Given the description of an element on the screen output the (x, y) to click on. 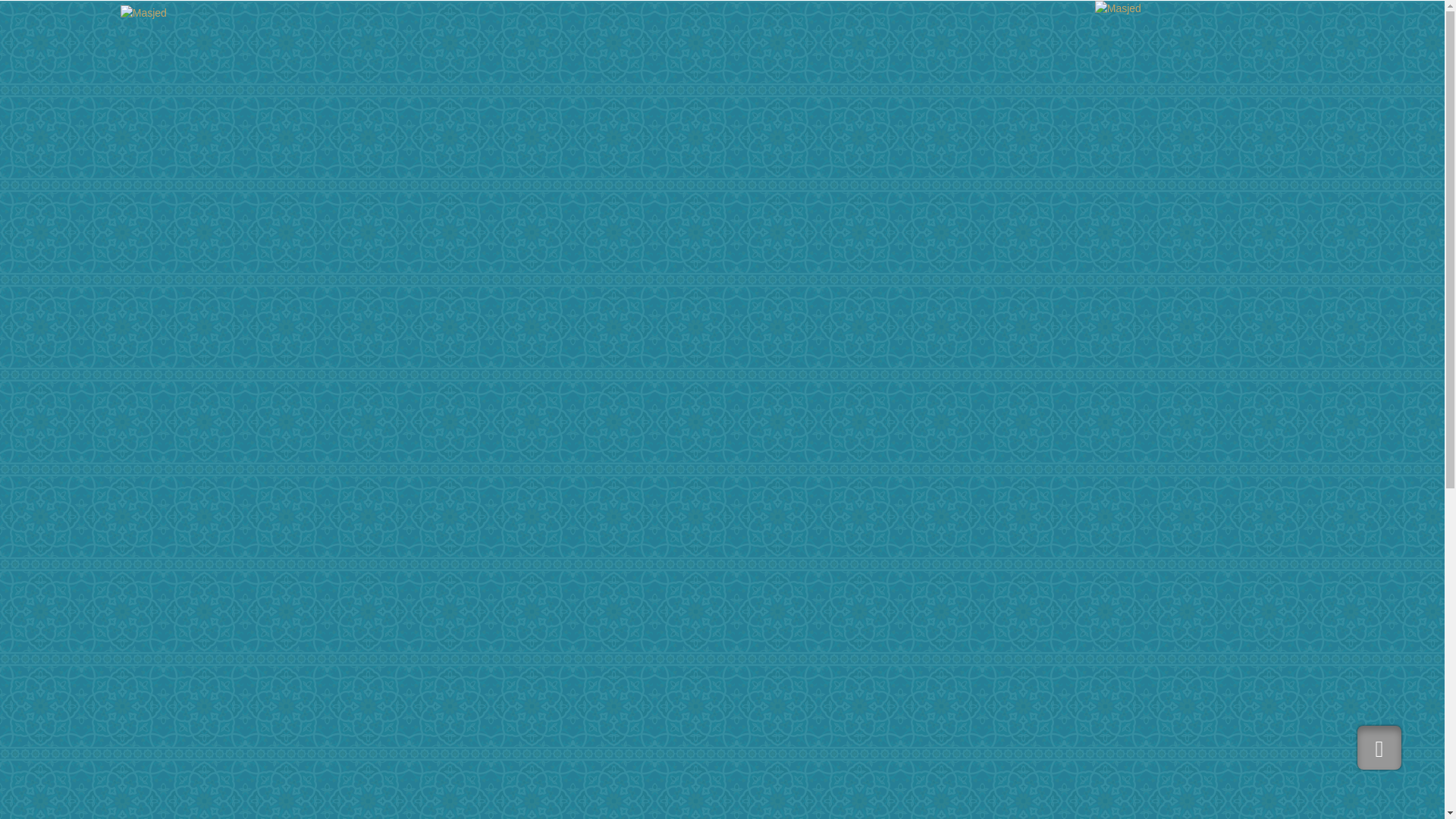
4 (892, 794)
5 (699, 816)
5 (699, 816)
4 (684, 816)
0 (847, 794)
0 (908, 794)
2 (654, 816)
0 (892, 794)
0 (877, 794)
3 (669, 816)
